Given the description of an element on the screen output the (x, y) to click on. 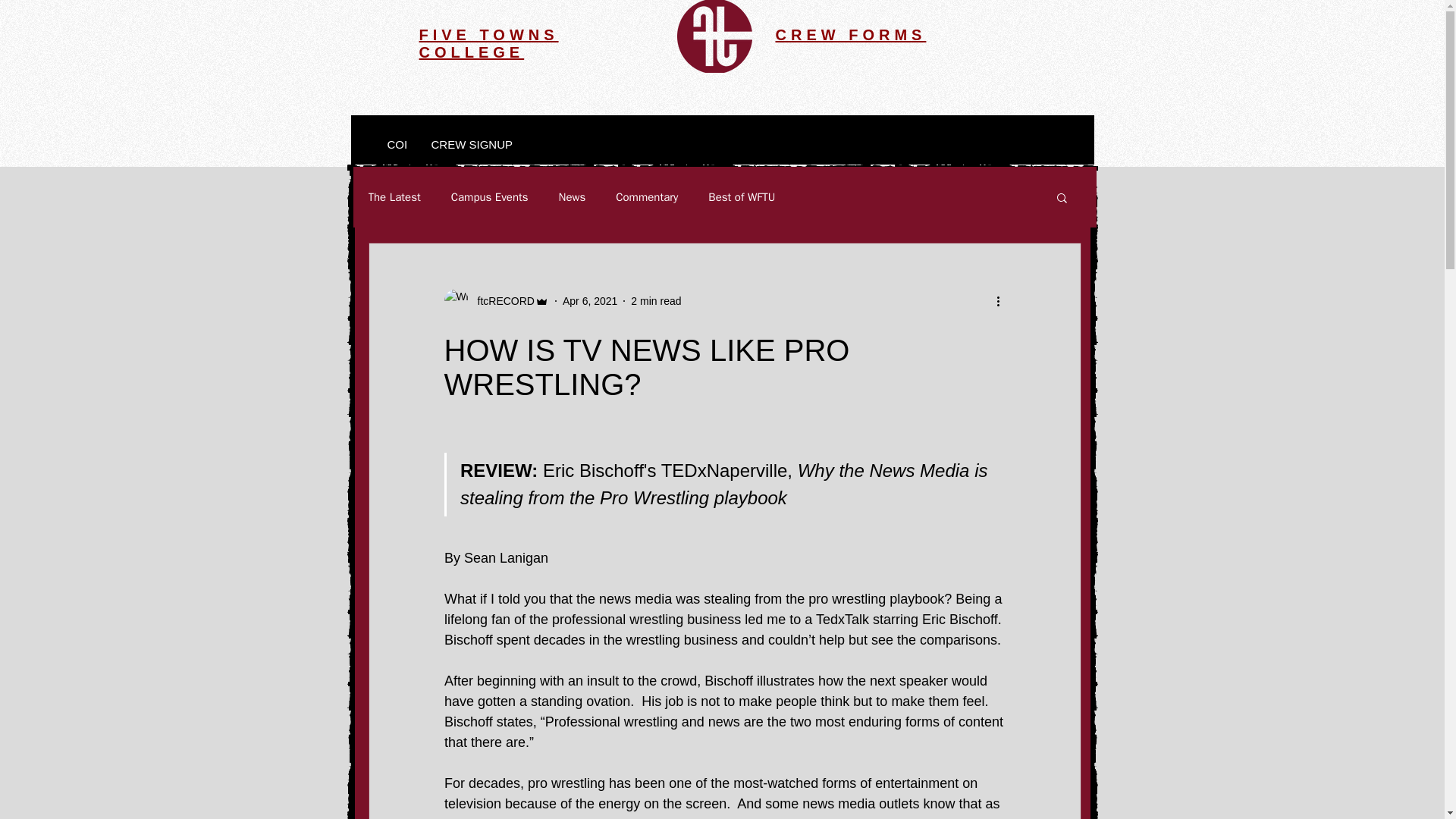
2 min read (655, 300)
ftcRECORD (496, 300)
Best of WFTU (740, 196)
CREW SIGNUP (469, 144)
News (572, 196)
FIVE TOWNS COLLEGE (488, 43)
Campus Events (489, 196)
The Latest (394, 196)
Apr 6, 2021 (589, 300)
ftcRECORD (501, 300)
Commentary (646, 196)
CREW FORMS (850, 34)
COI (397, 144)
